Given the description of an element on the screen output the (x, y) to click on. 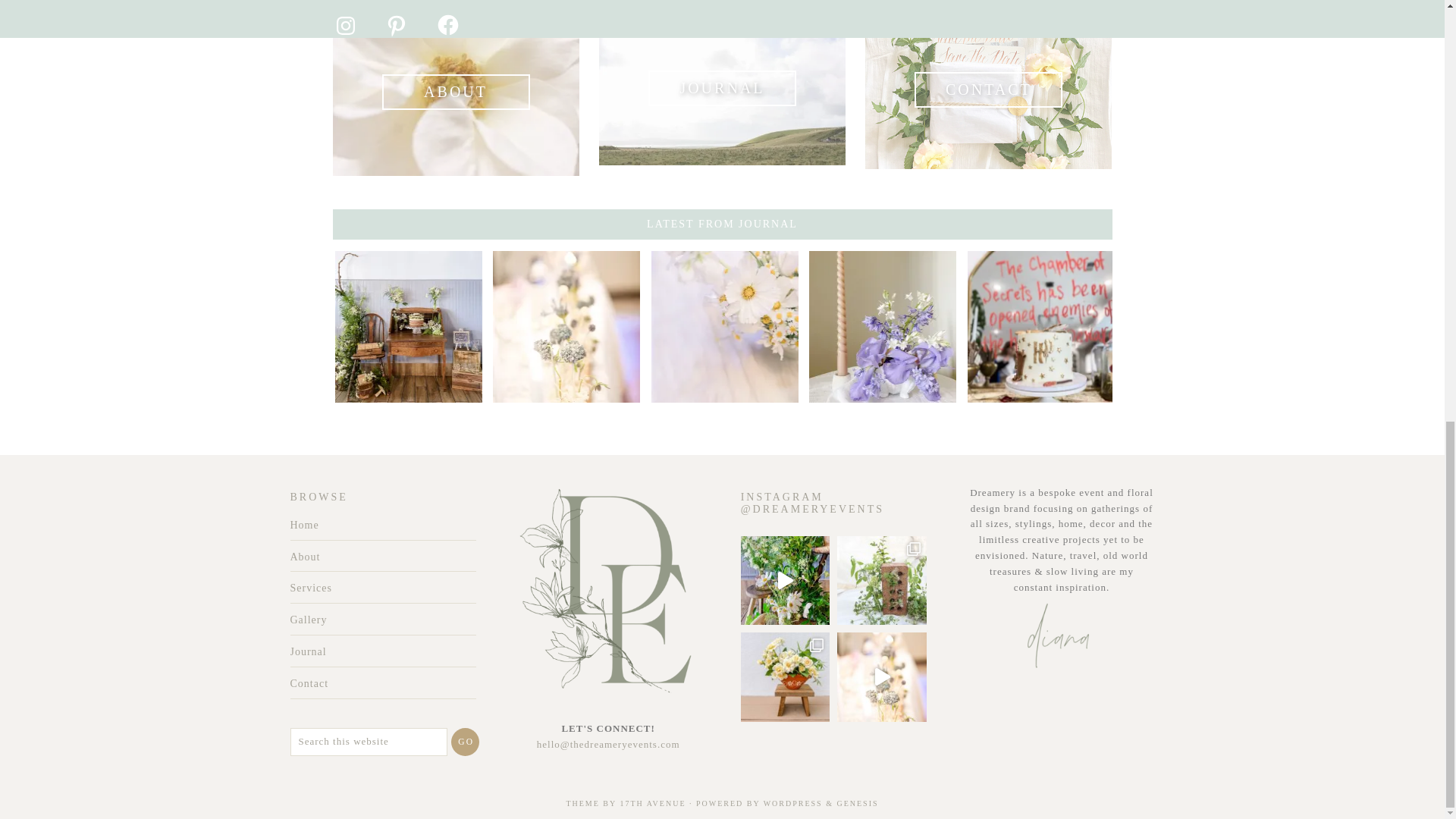
GO (465, 741)
GO (465, 741)
